Given the description of an element on the screen output the (x, y) to click on. 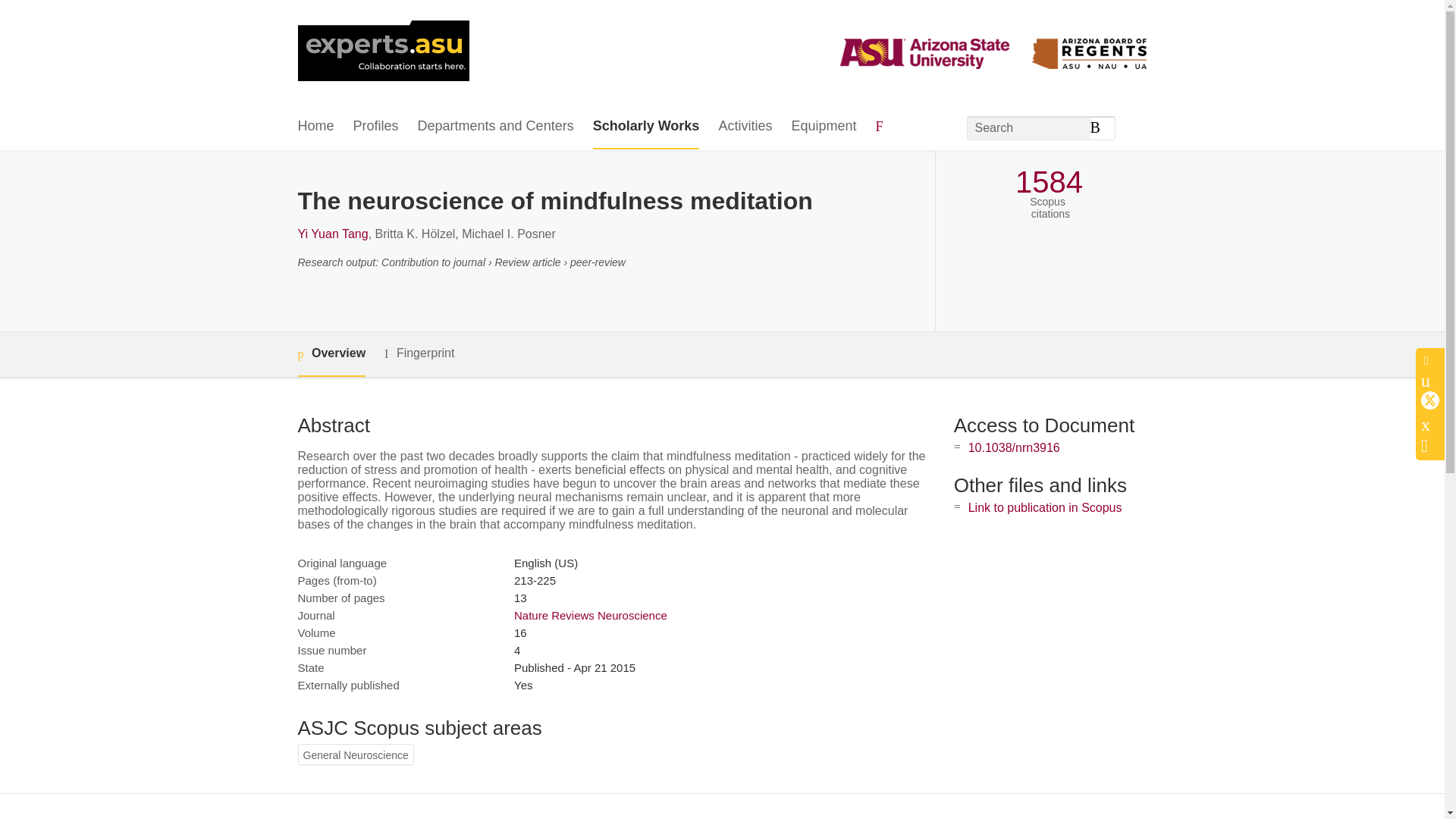
Departments and Centers (495, 126)
Nature Reviews Neuroscience (589, 615)
Scholarly Works (646, 126)
Overview (331, 354)
Yi Yuan Tang (332, 233)
Link to publication in Scopus (1045, 507)
Equipment (823, 126)
Fingerprint (419, 353)
Activities (744, 126)
1584 (1048, 181)
Profiles (375, 126)
Arizona State University Home (382, 52)
